Given the description of an element on the screen output the (x, y) to click on. 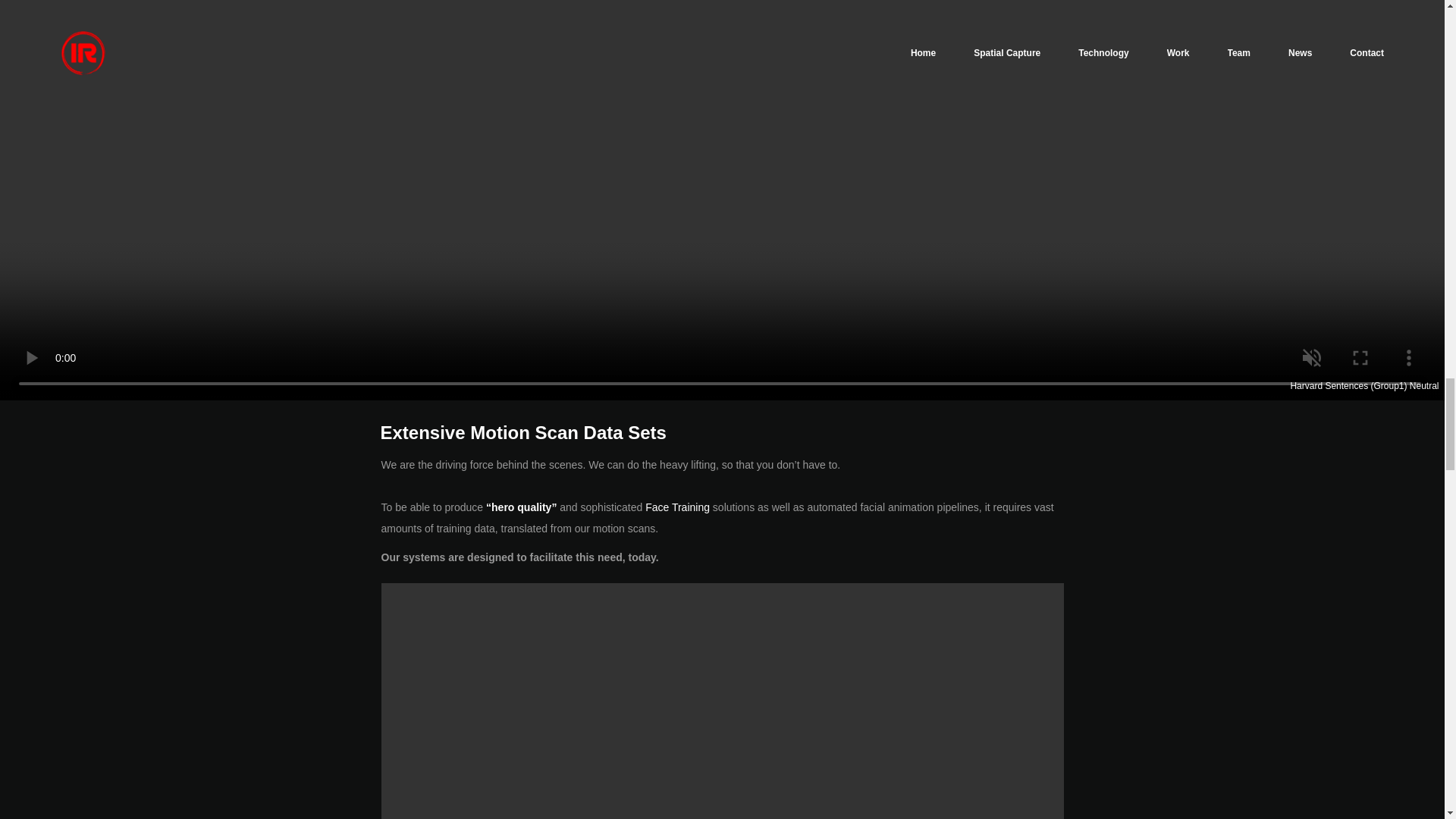
Face Training (677, 506)
